Given the description of an element on the screen output the (x, y) to click on. 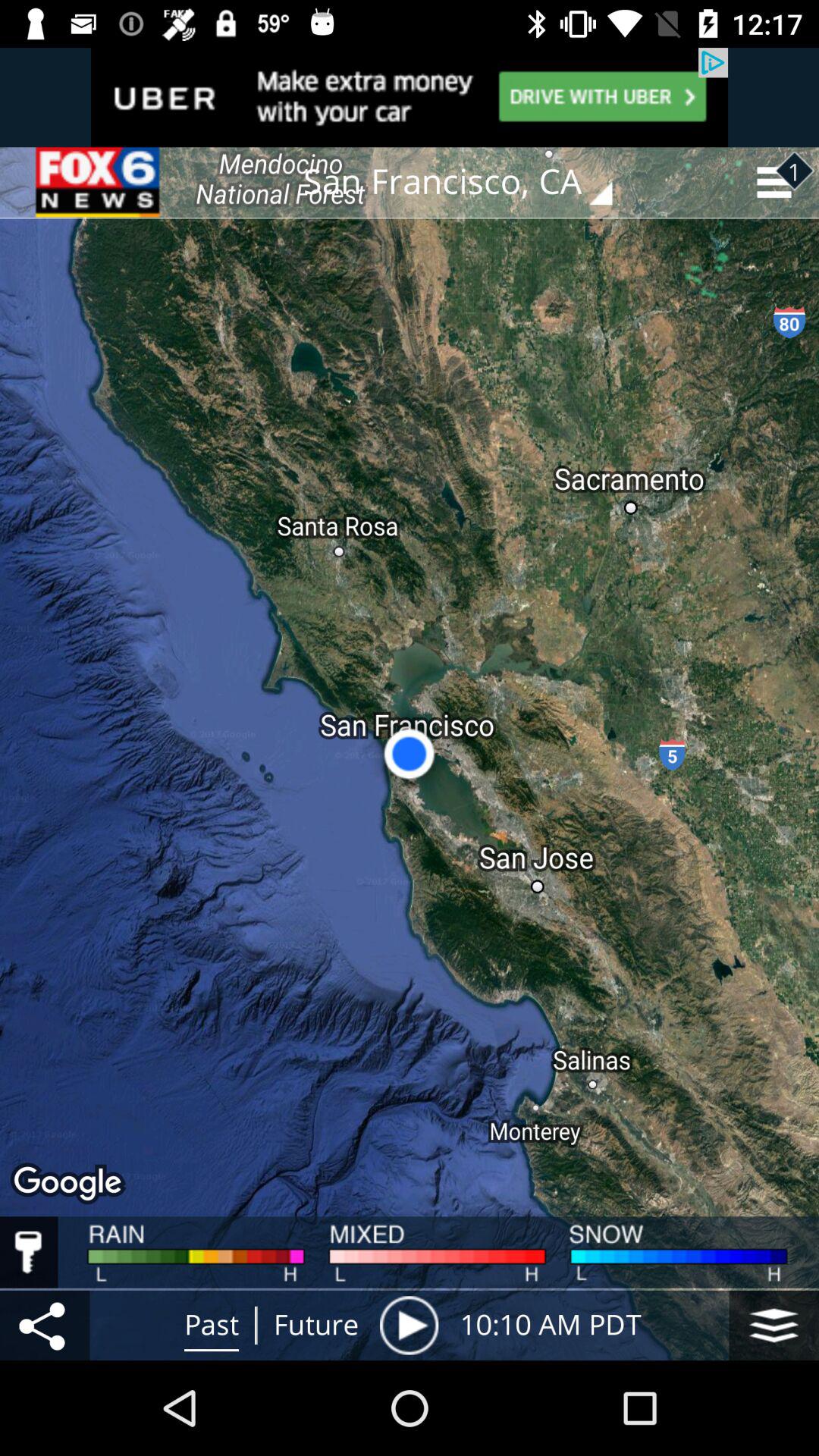
choose the san francisco, ca icon (468, 182)
